Given the description of an element on the screen output the (x, y) to click on. 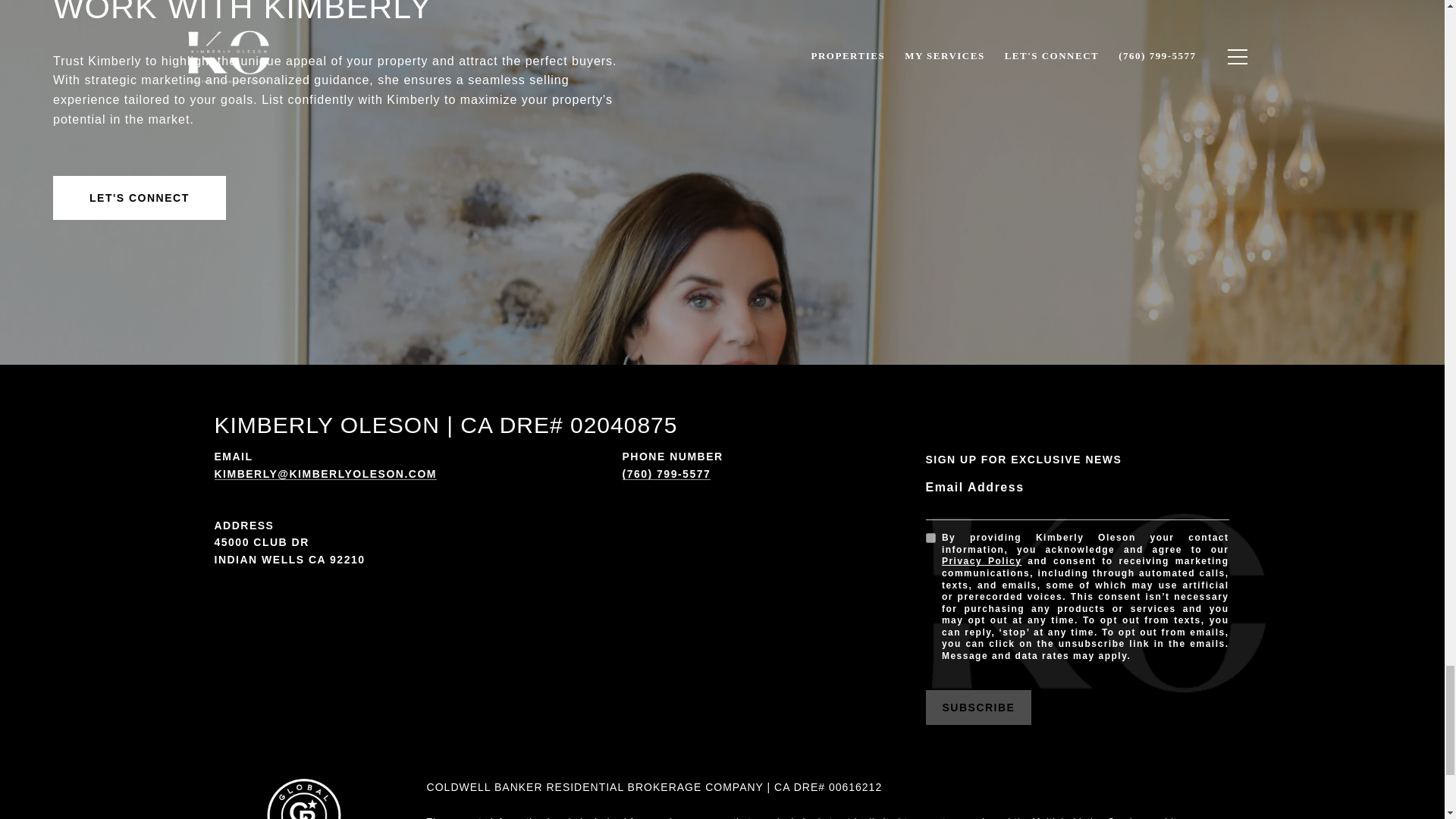
on (929, 537)
